Given the description of an element on the screen output the (x, y) to click on. 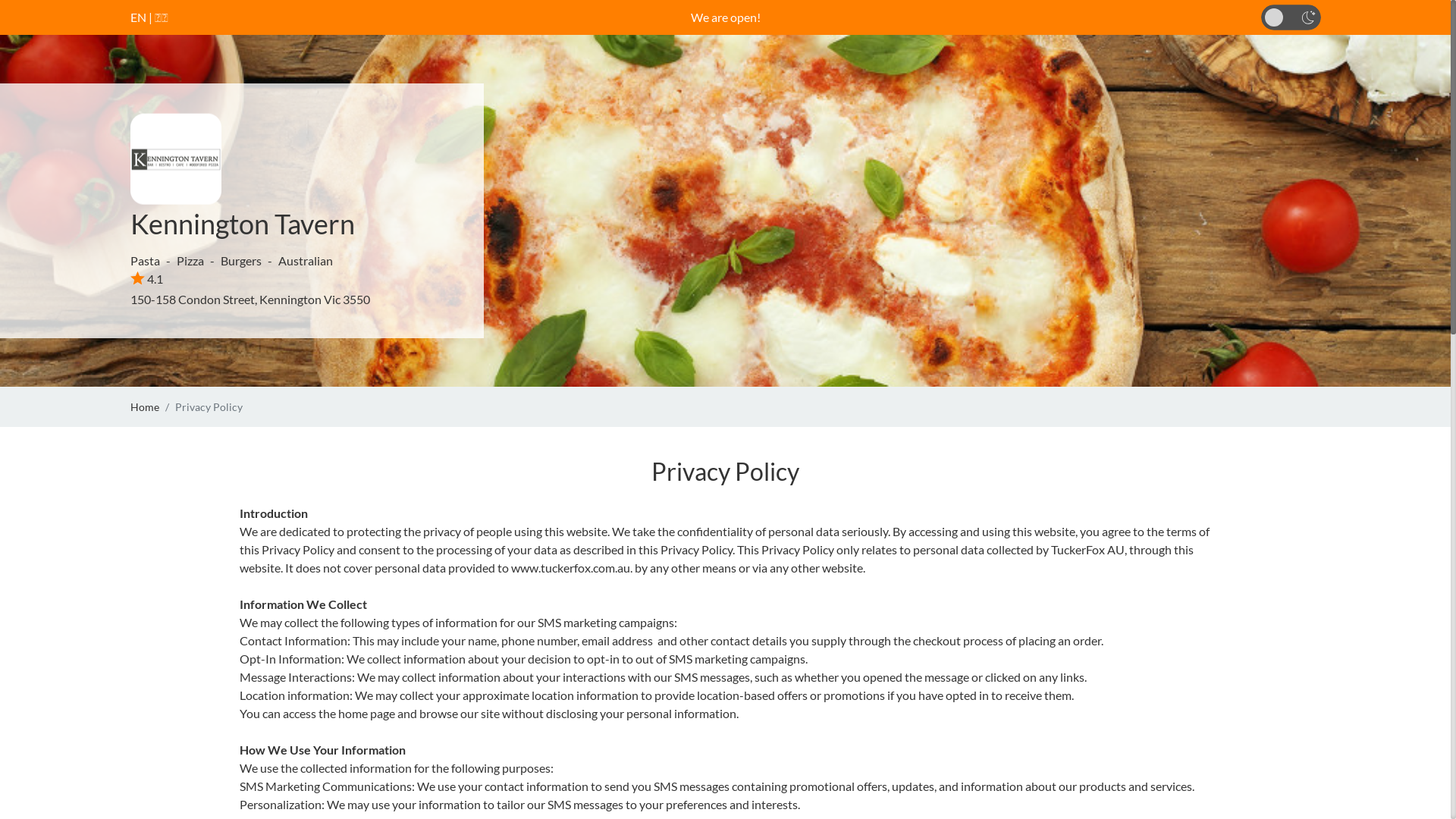
4.1 Element type: text (146, 278)
Kennington Tavern Element type: text (242, 223)
Home Element type: text (144, 406)
EN Element type: text (138, 16)
